Given the description of an element on the screen output the (x, y) to click on. 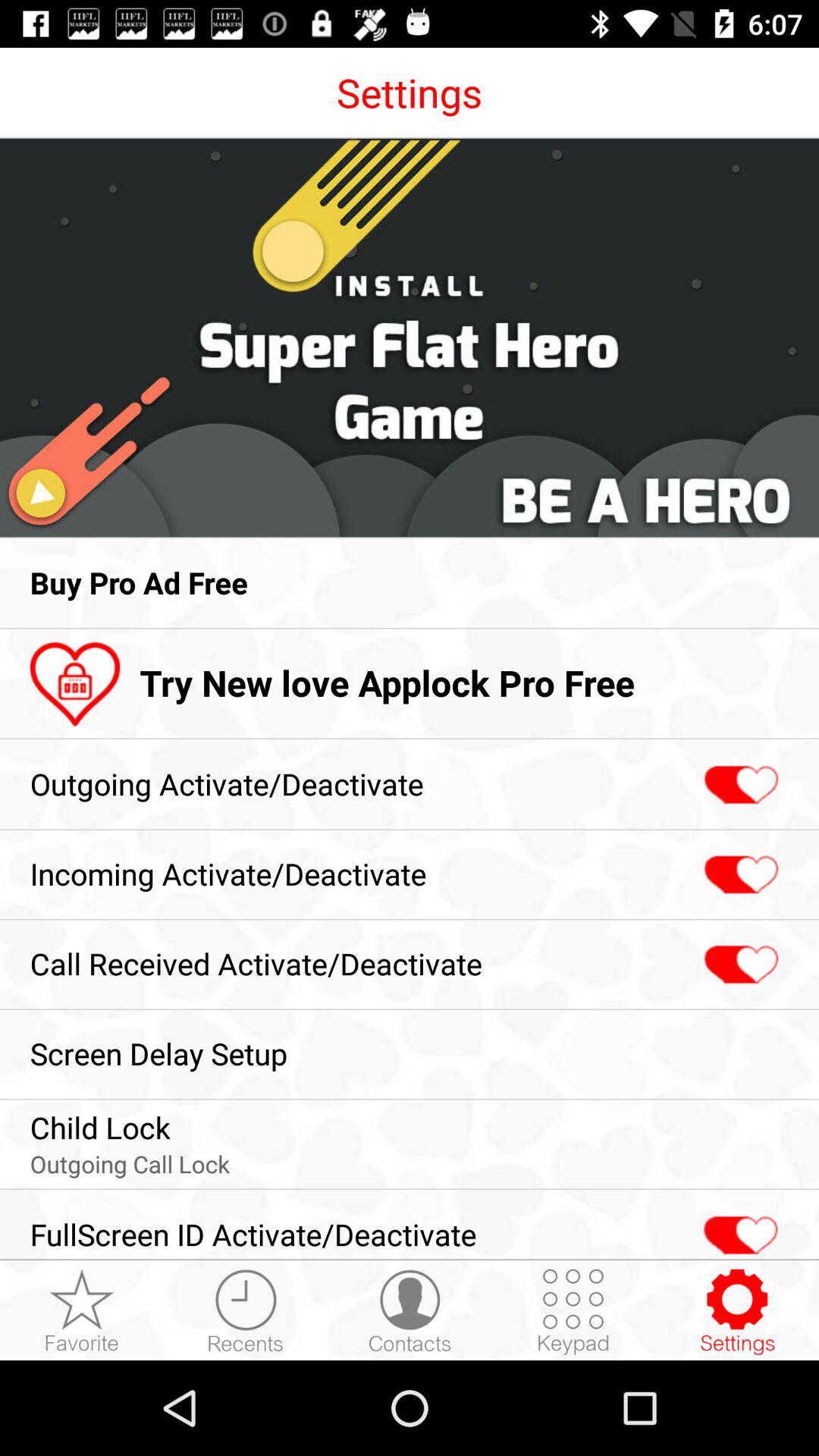
tap item next to the fullscreen id activate app (573, 1311)
